Given the description of an element on the screen output the (x, y) to click on. 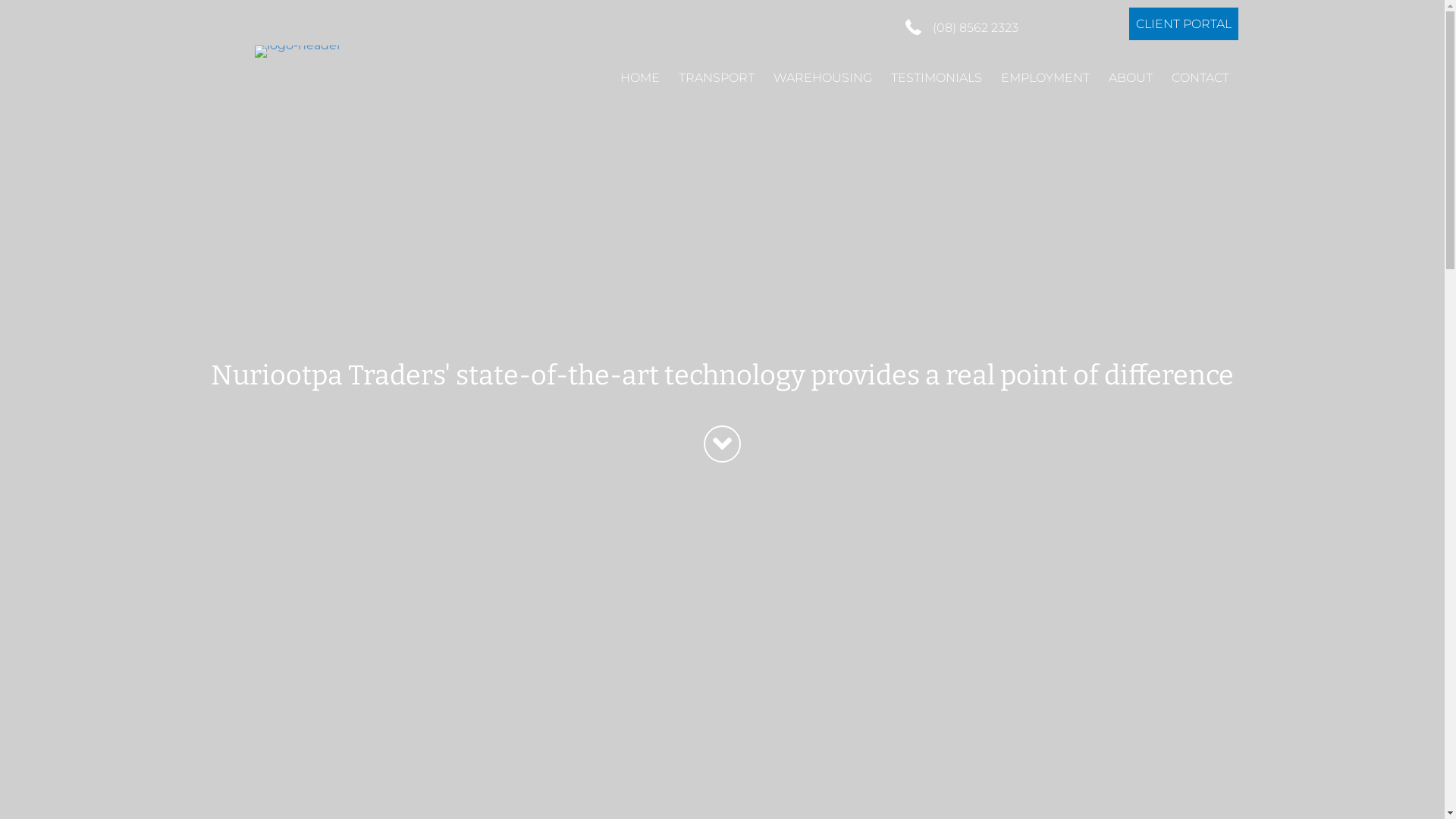
WAREHOUSING Element type: text (822, 77)
TESTIMONIALS Element type: text (936, 77)
HOME Element type: text (639, 77)
TRANSPORT Element type: text (716, 77)
CLIENT PORTAL Element type: text (1182, 23)
ABOUT Element type: text (1130, 77)
logo-header Element type: hover (297, 51)
(08) 8562 2323 Element type: text (975, 27)
CONTACT Element type: text (1200, 77)
EMPLOYMENT Element type: text (1044, 77)
